Given the description of an element on the screen output the (x, y) to click on. 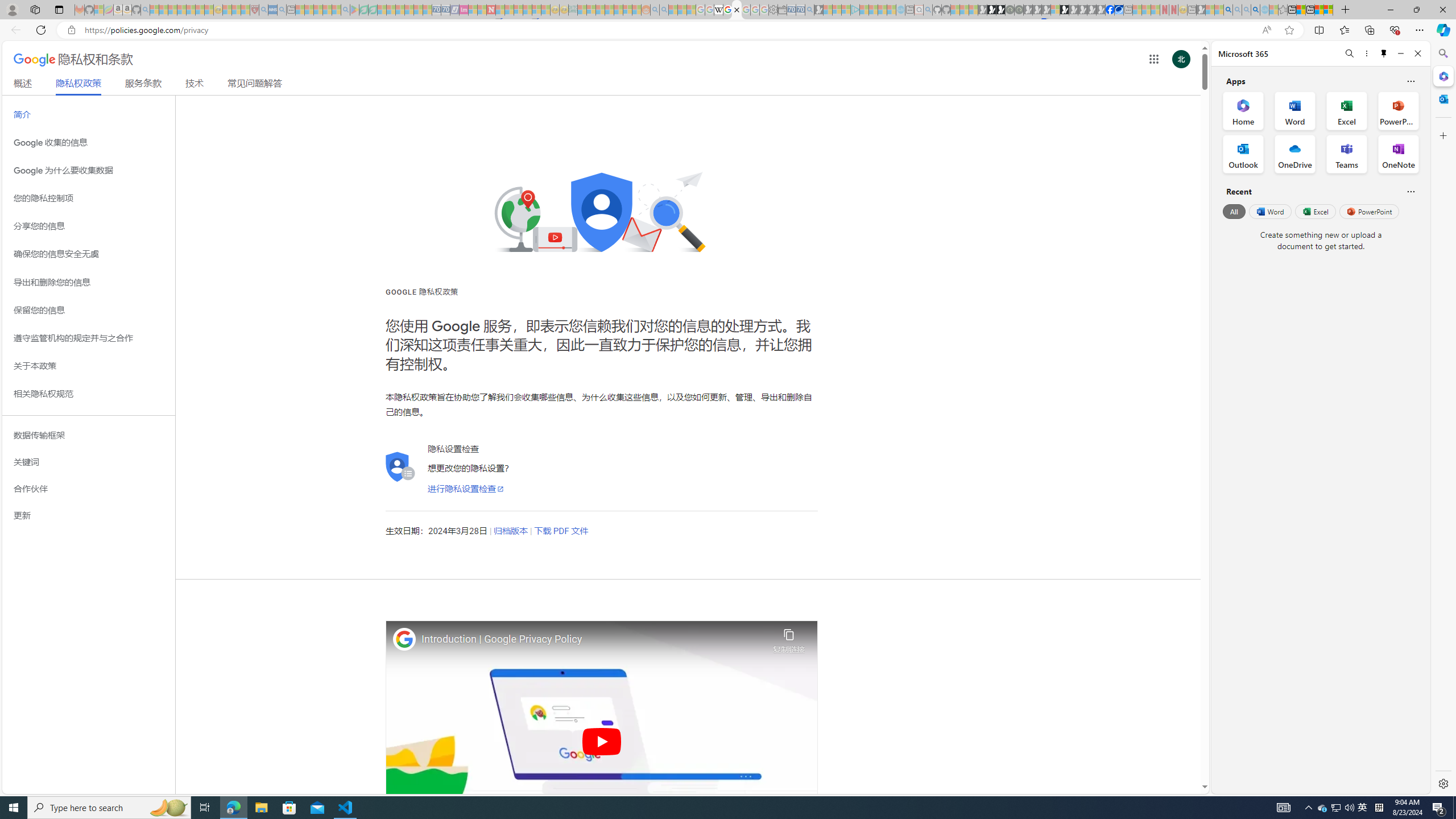
github - Search - Sleeping (927, 9)
